Given the description of an element on the screen output the (x, y) to click on. 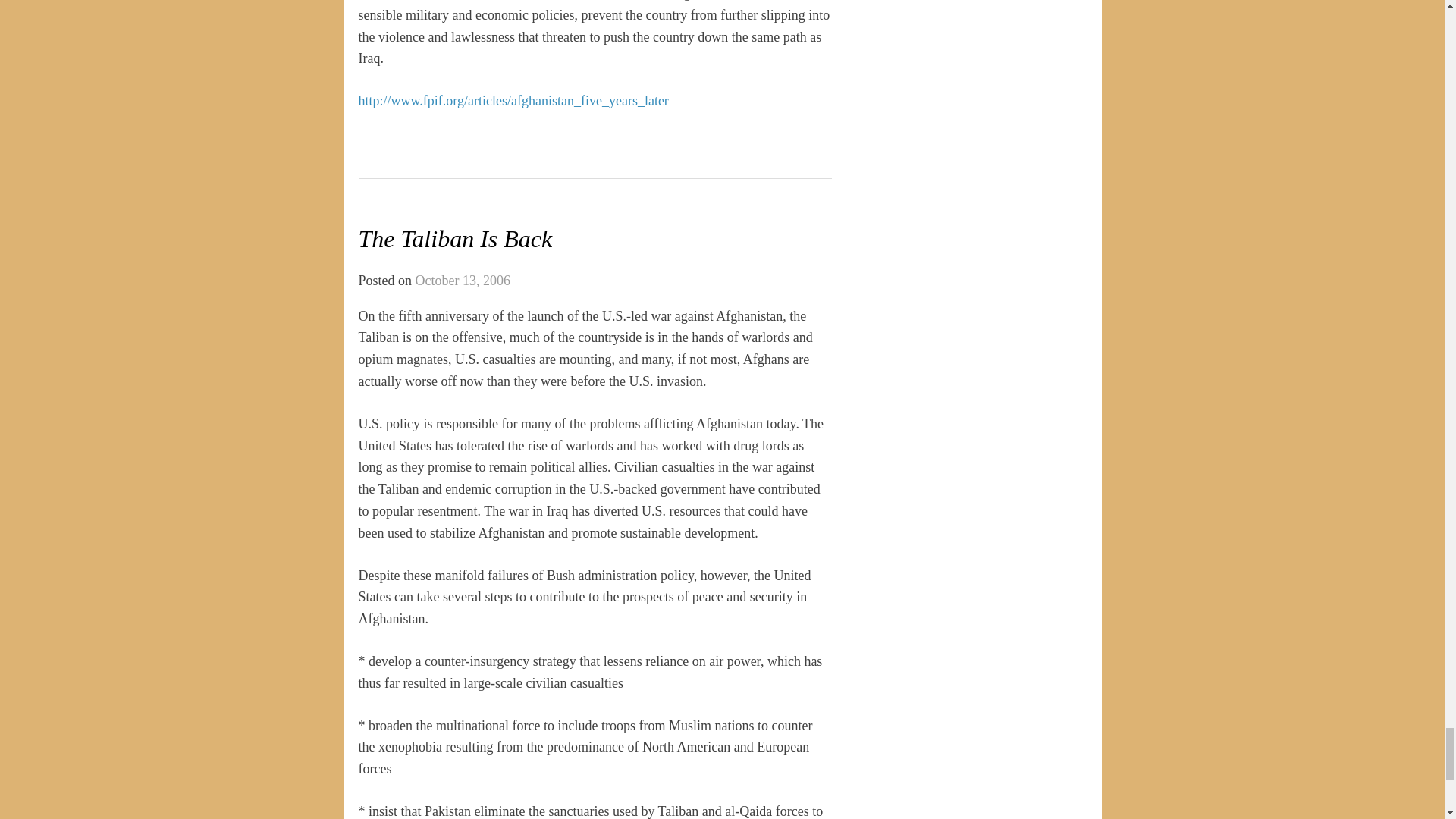
The Taliban Is Back (454, 238)
October 13, 2006 (462, 280)
